Given the description of an element on the screen output the (x, y) to click on. 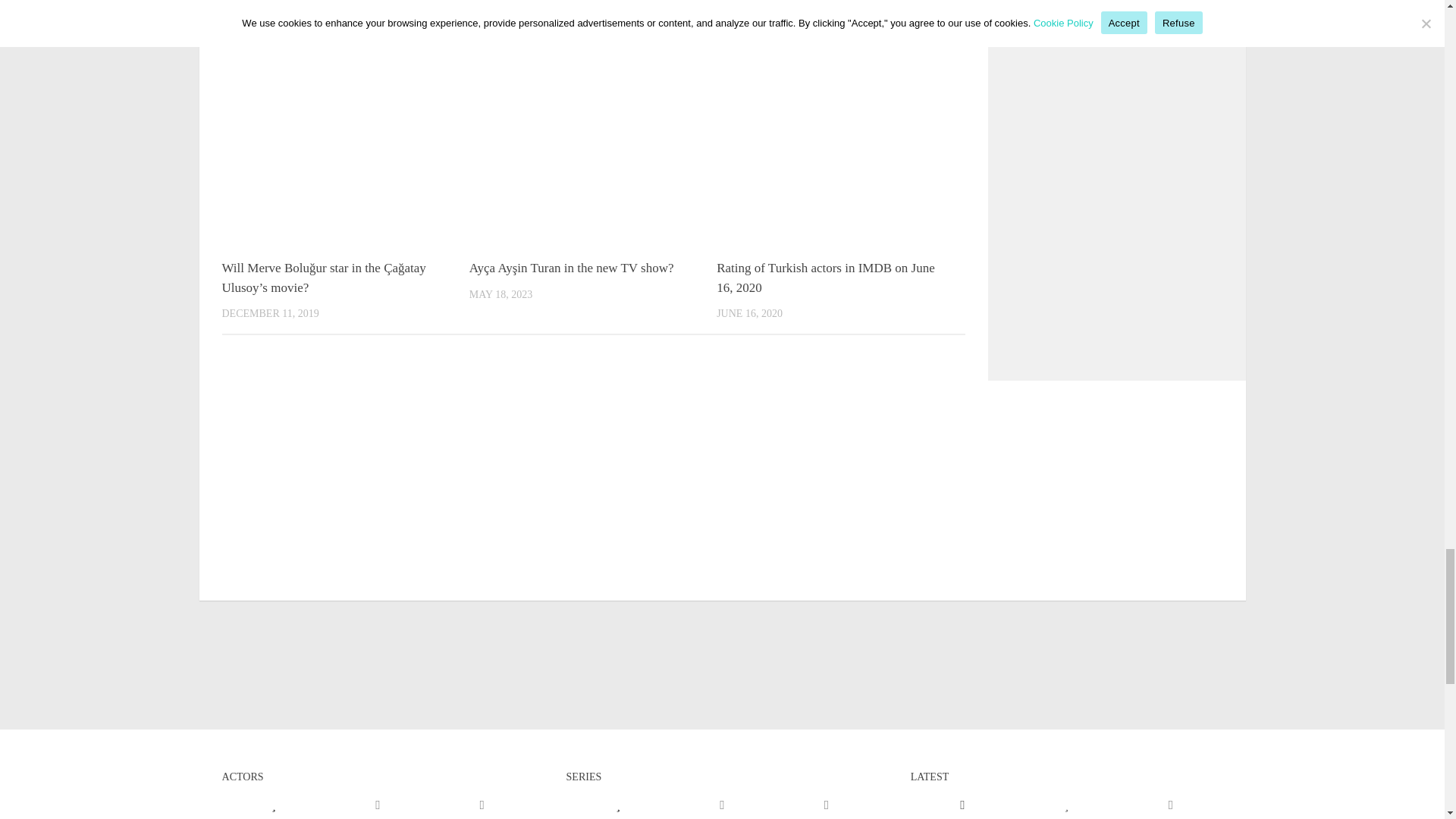
Rating of Turkish actors in IMDB on June 16, 2020 (825, 277)
